Given the description of an element on the screen output the (x, y) to click on. 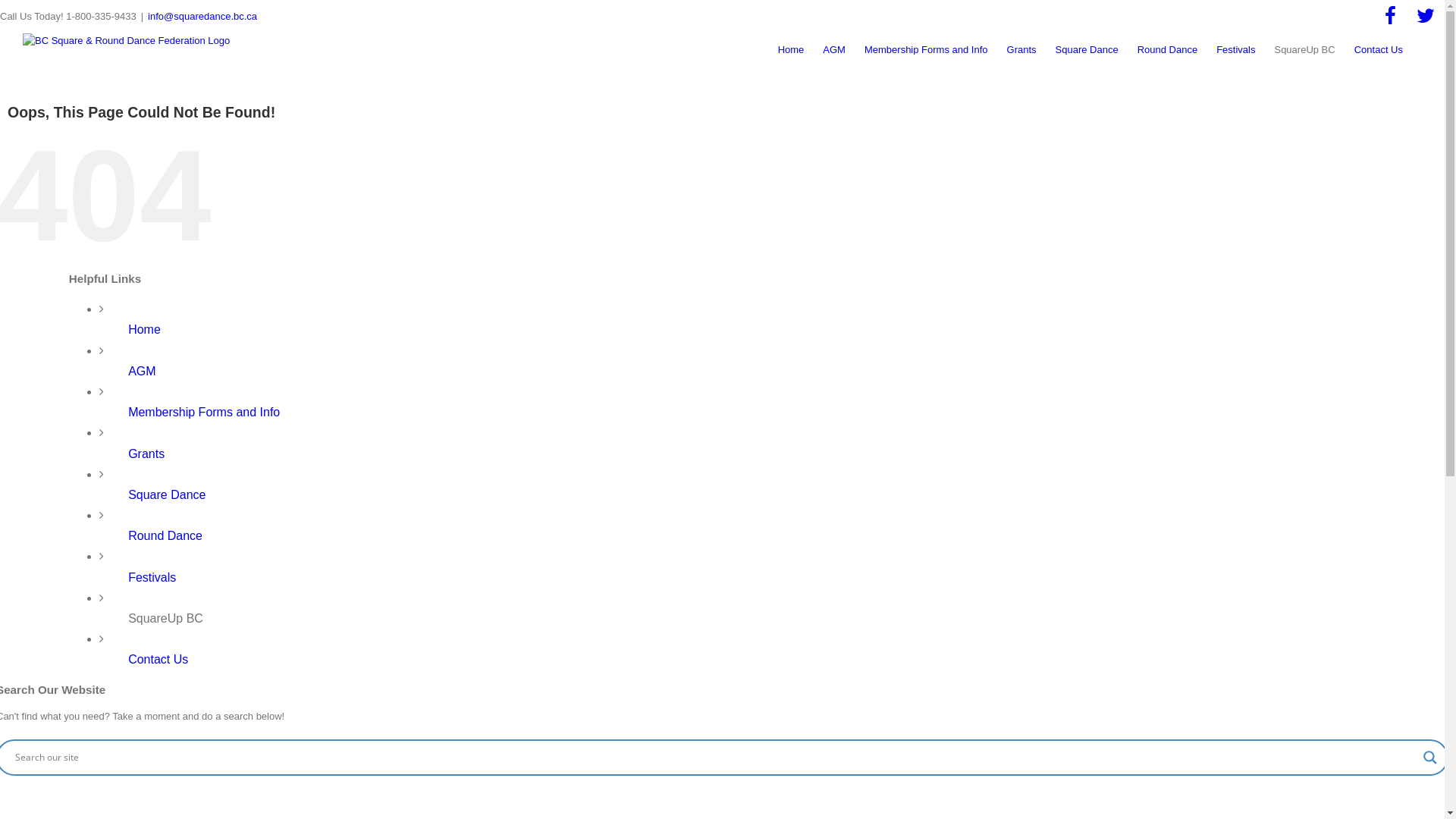
SquareUp BC Element type: text (1304, 49)
Square Dance Element type: text (1086, 49)
AGM Element type: text (141, 370)
Grants Element type: text (146, 453)
Round Dance Element type: text (1167, 49)
SquareUp BC Element type: text (165, 617)
Contact Us Element type: text (158, 658)
Home Element type: text (791, 49)
Contact Us Element type: text (1378, 49)
Round Dance Element type: text (165, 535)
Festivals Element type: text (1235, 49)
info@squaredance.bc.ca Element type: text (202, 15)
AGM Element type: text (833, 49)
Membership Forms and Info Element type: text (203, 411)
Grants Element type: text (1021, 49)
Festivals Element type: text (151, 577)
Home Element type: text (144, 329)
Square Dance Element type: text (166, 494)
Membership Forms and Info Element type: text (926, 49)
